Given the description of an element on the screen output the (x, y) to click on. 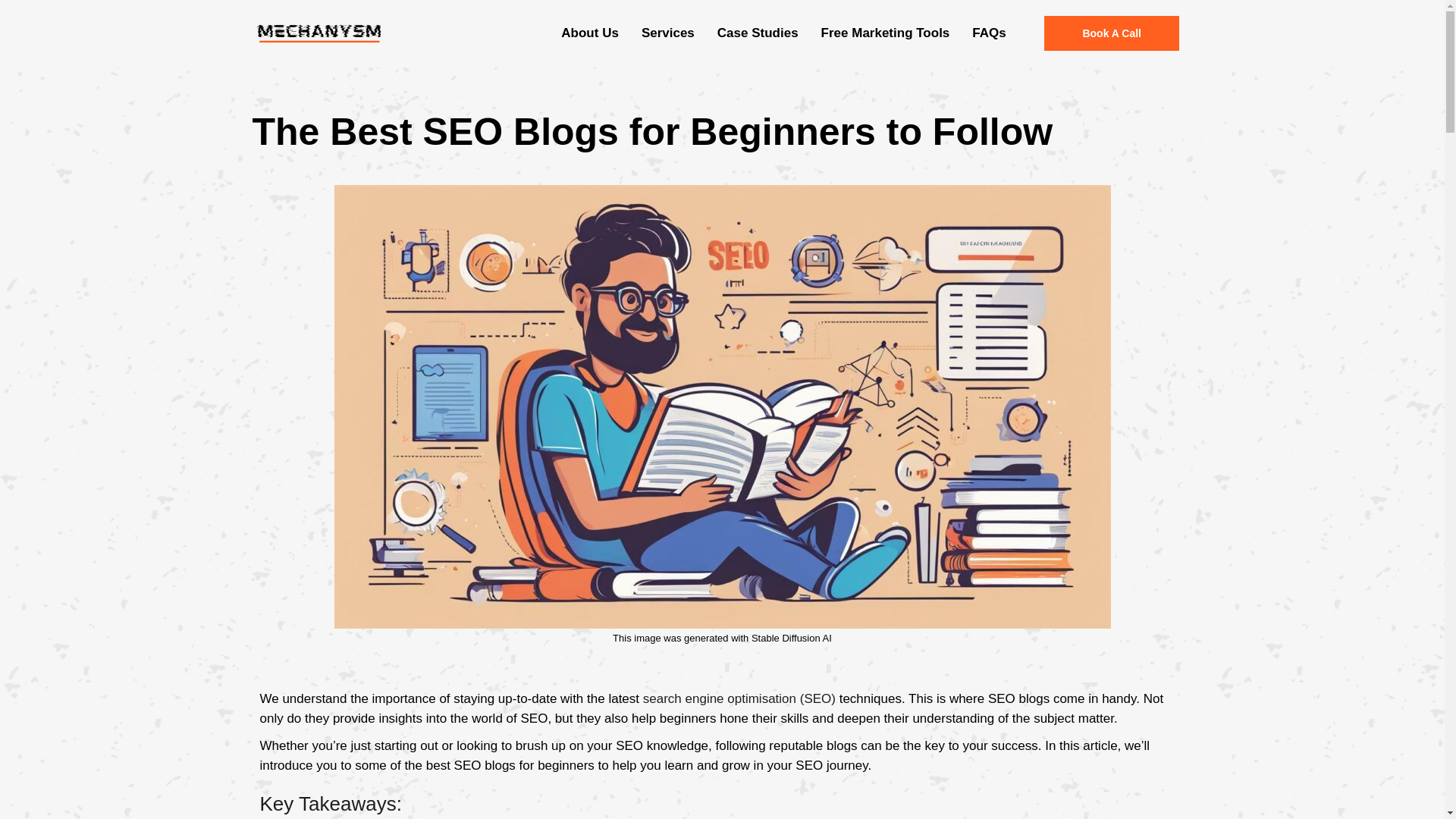
Free Marketing Tools (884, 33)
Book A Call (1111, 32)
About Us (590, 33)
Services (668, 33)
FAQs (988, 33)
Case Studies (757, 33)
